Given the description of an element on the screen output the (x, y) to click on. 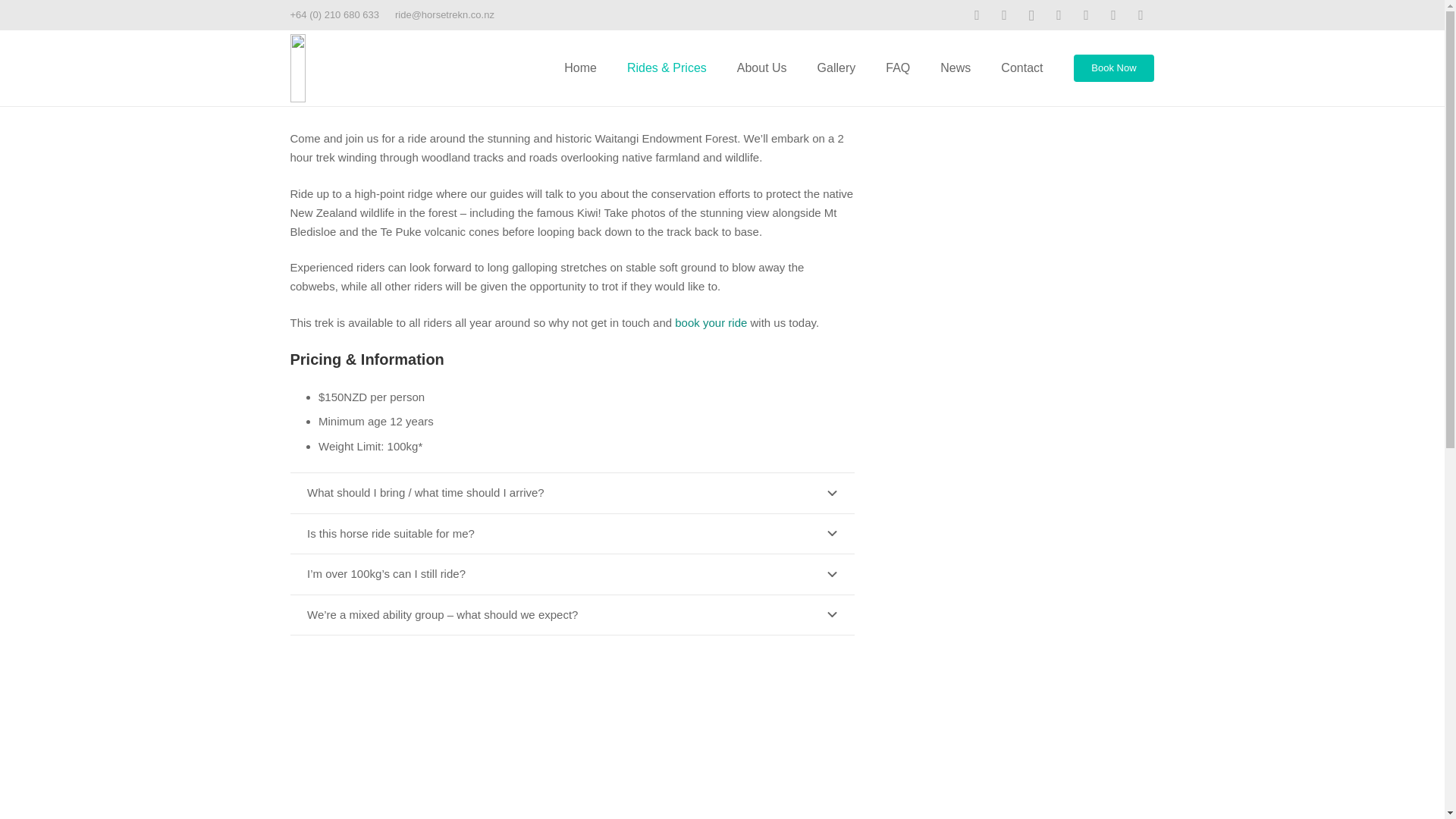
Instagram (1031, 14)
TikTok (1086, 14)
Is this horse ride suitable for me? (571, 534)
YouTube (1004, 14)
Book Now (1114, 67)
book your ride (710, 321)
WhatsApp (1113, 14)
Email (1140, 14)
About Us (762, 68)
Facebook (977, 14)
Gallery (836, 68)
Contact (1021, 68)
Tripadvisor (1059, 14)
